Given the description of an element on the screen output the (x, y) to click on. 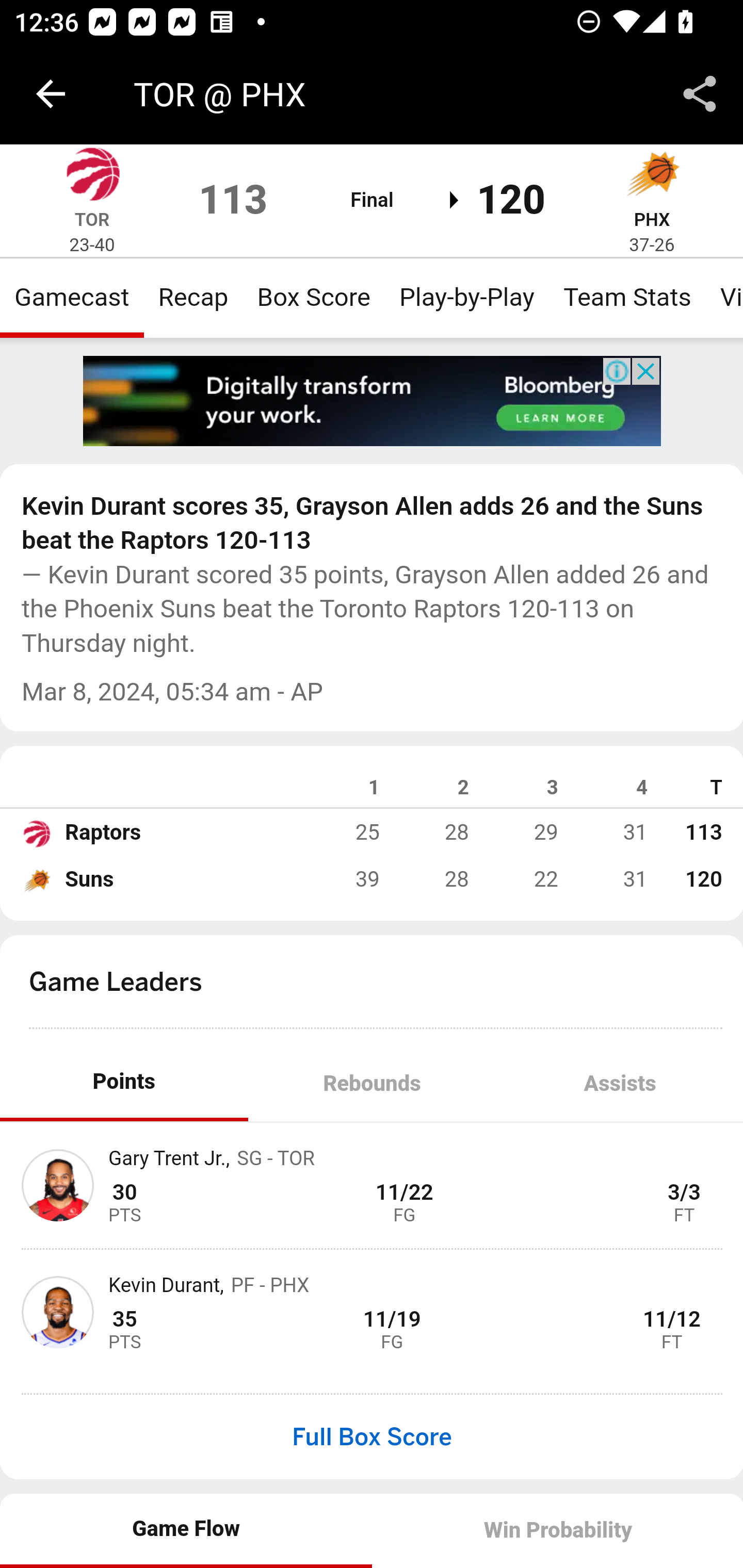
Navigate up (50, 93)
Share (699, 93)
Toronto Raptors (91, 173)
Phoenix Suns (651, 173)
TOR (91, 219)
PHX (651, 219)
Gamecast (72, 296)
Recap (192, 296)
Box Score (314, 296)
Play-by-Play (466, 296)
Team Stats (627, 296)
Toronto Raptors (36, 832)
Phoenix Suns (36, 879)
Points (124, 1081)
Rebounds (371, 1084)
Assists (618, 1084)
Full Box Score (371, 1436)
Game Flow (186, 1528)
Win Probability (557, 1529)
